Given the description of an element on the screen output the (x, y) to click on. 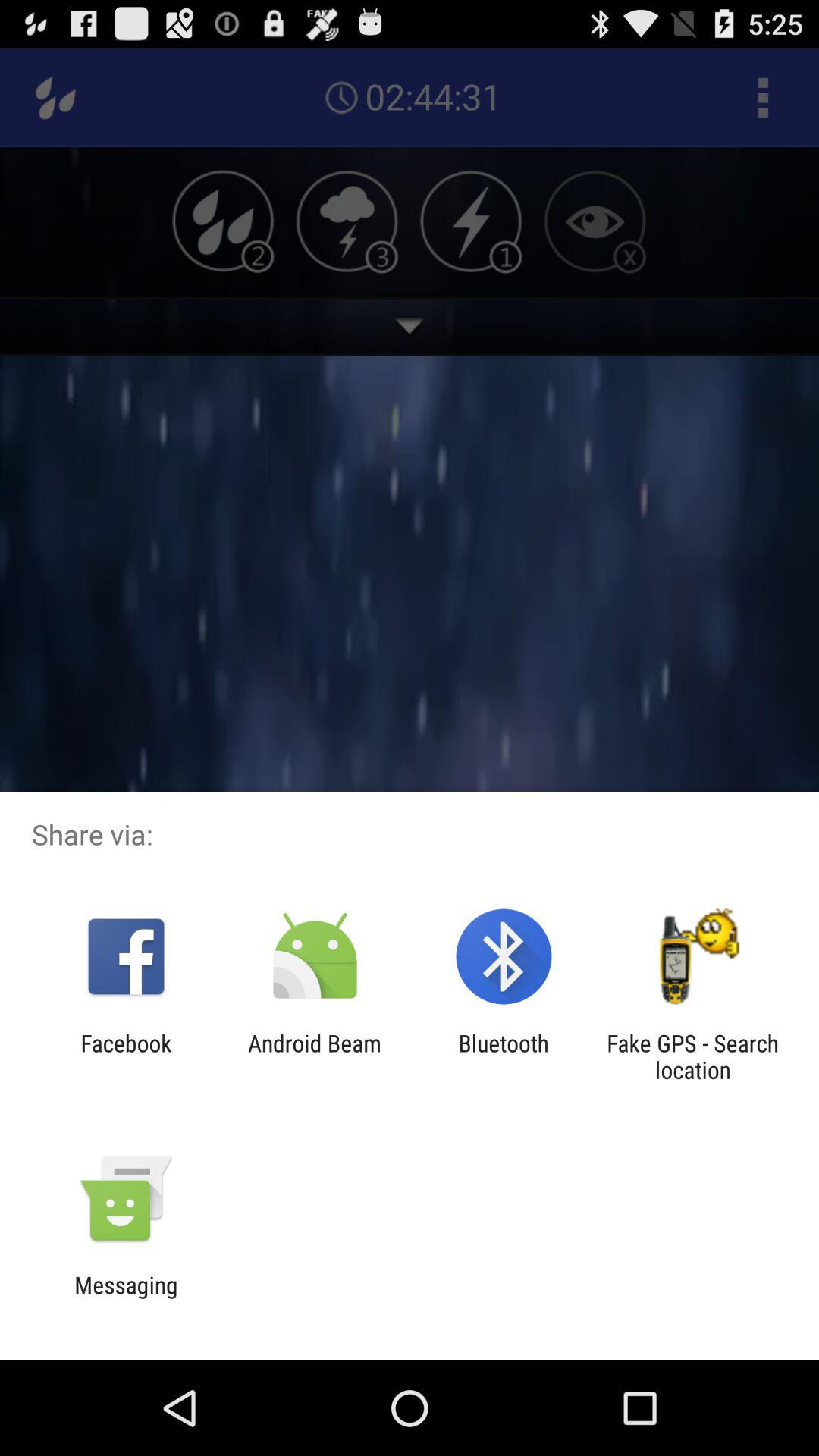
select the facebook icon (125, 1056)
